Given the description of an element on the screen output the (x, y) to click on. 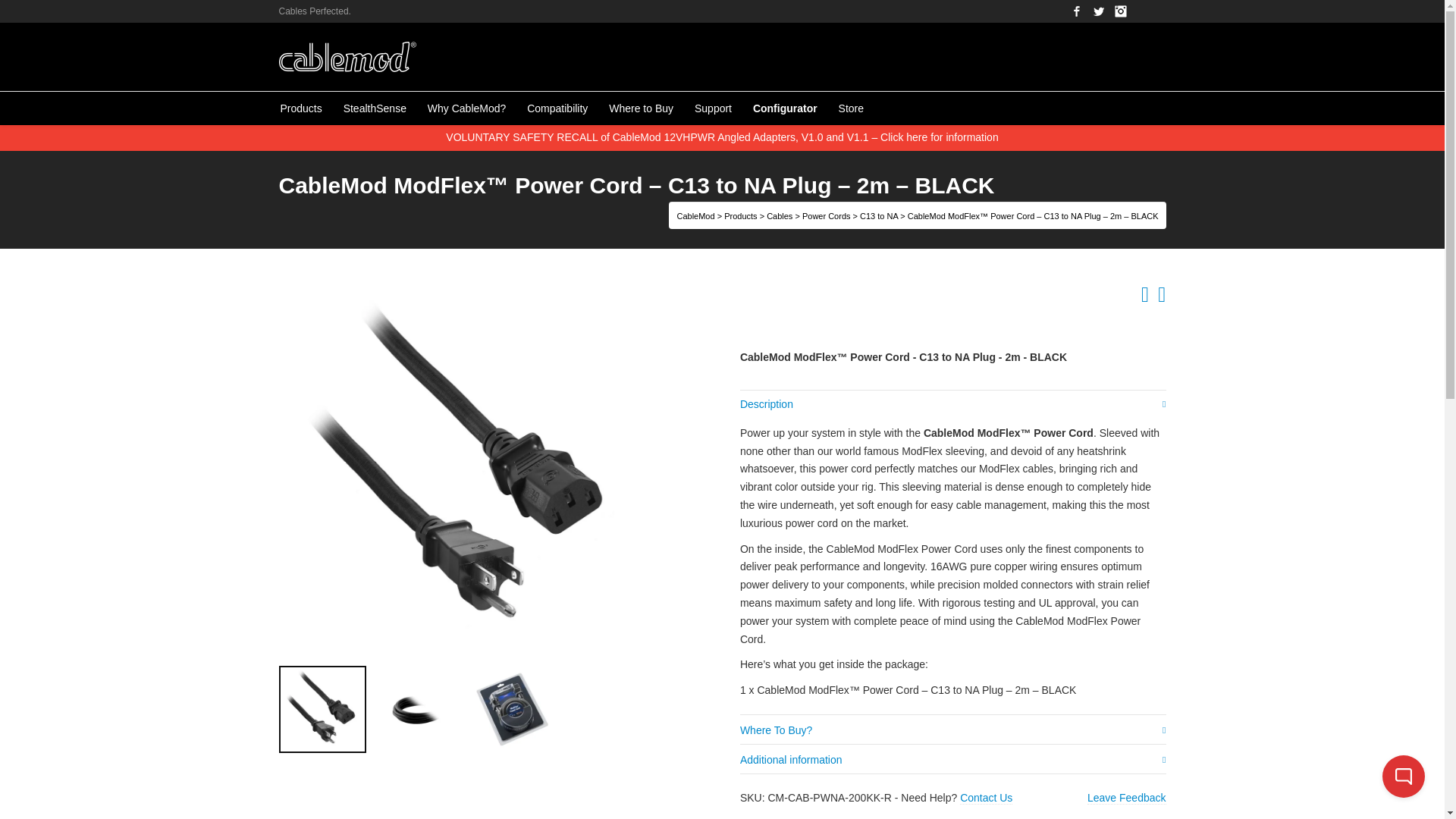
Go to Products. (740, 215)
Products (300, 108)
Power Cords (826, 215)
StealthSense (374, 108)
CableMod (695, 215)
Store (850, 108)
Where to Buy (640, 108)
Cables (779, 215)
Facebook (1076, 11)
Go to CableMod. (695, 215)
Go to the C13 to NA Product Category archives. (879, 215)
Instagram (1120, 11)
C13 to NA (879, 215)
Twitter (1097, 11)
Compatibility (557, 108)
